Given the description of an element on the screen output the (x, y) to click on. 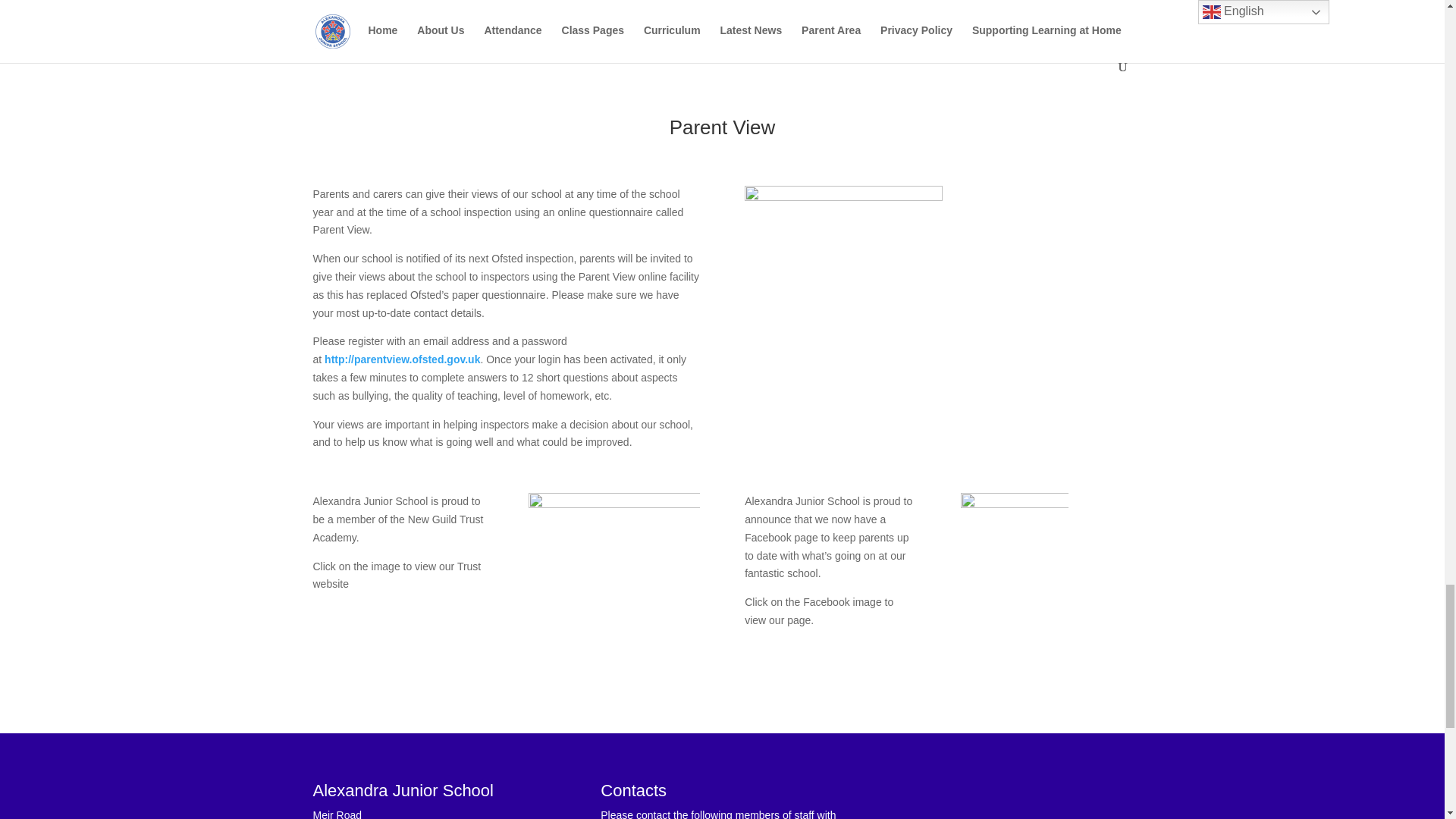
Parent view (843, 284)
